Given the description of an element on the screen output the (x, y) to click on. 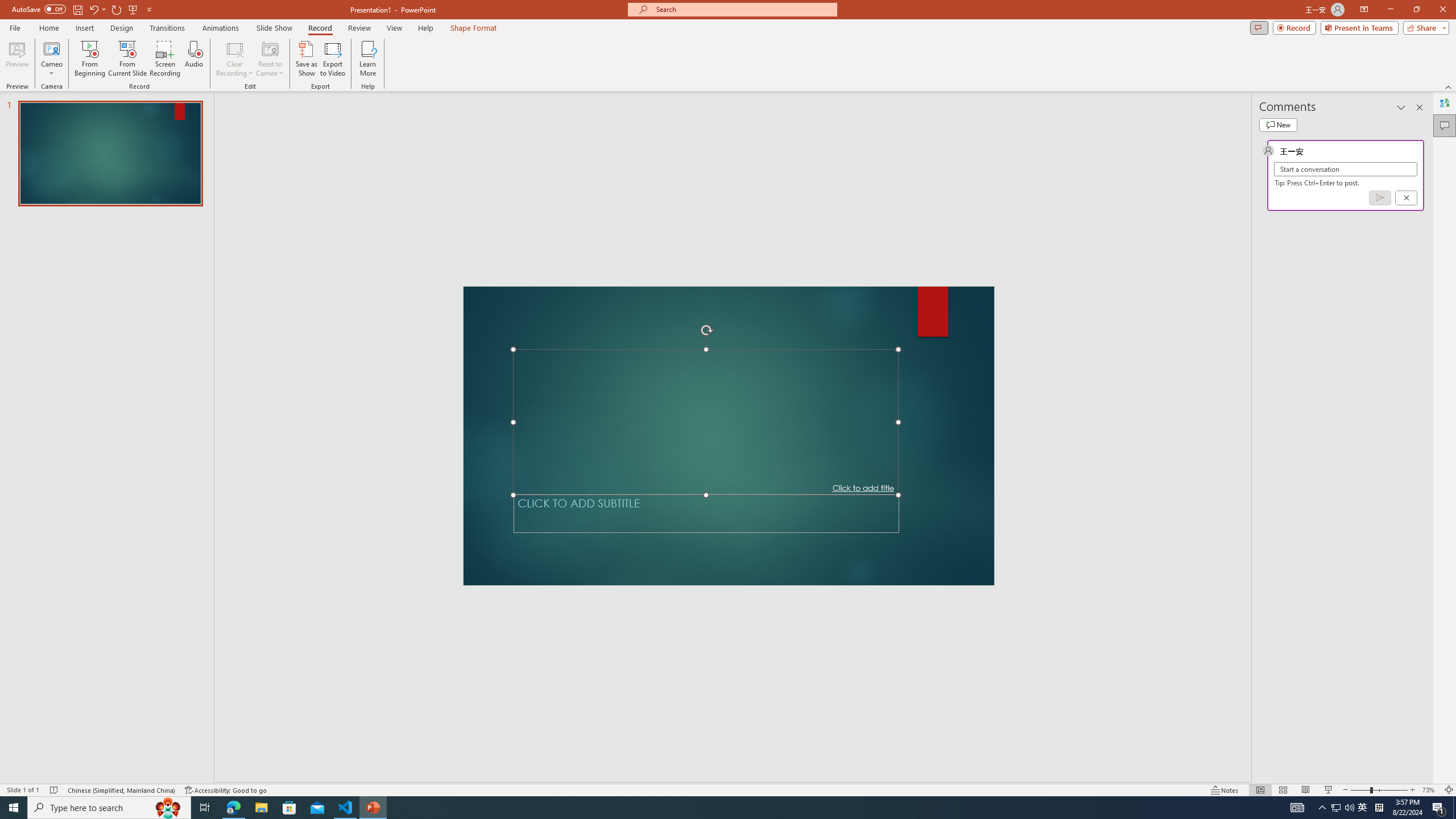
Print Layout (1254, 773)
Ruler (324, 72)
Can't Repeat (193, 18)
Cancel (804, 442)
Poe (842, 800)
Read Mode (1219, 773)
Focus (219, 92)
Switch Windows (893, 92)
Mailings (458, 47)
